Given the description of an element on the screen output the (x, y) to click on. 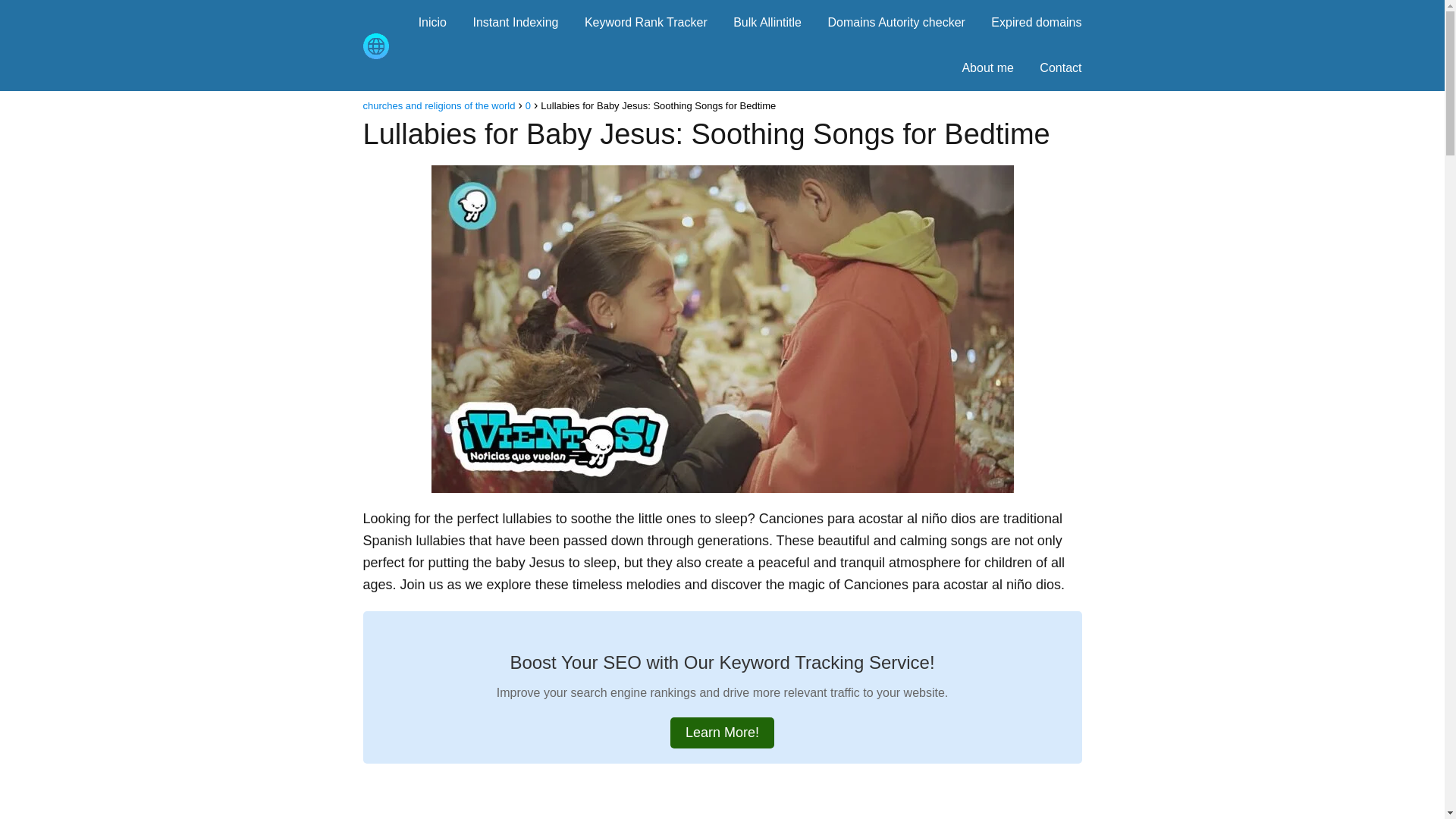
Expired domains (1036, 21)
churches and religions of the world (438, 105)
About me (986, 67)
Learn More! (721, 732)
Instant Indexing (514, 21)
Keyword Rank Tracker (646, 21)
Domains Autority checker (895, 21)
Contact (1060, 67)
Bulk Allintitle (767, 21)
Inicio (432, 21)
